Given the description of an element on the screen output the (x, y) to click on. 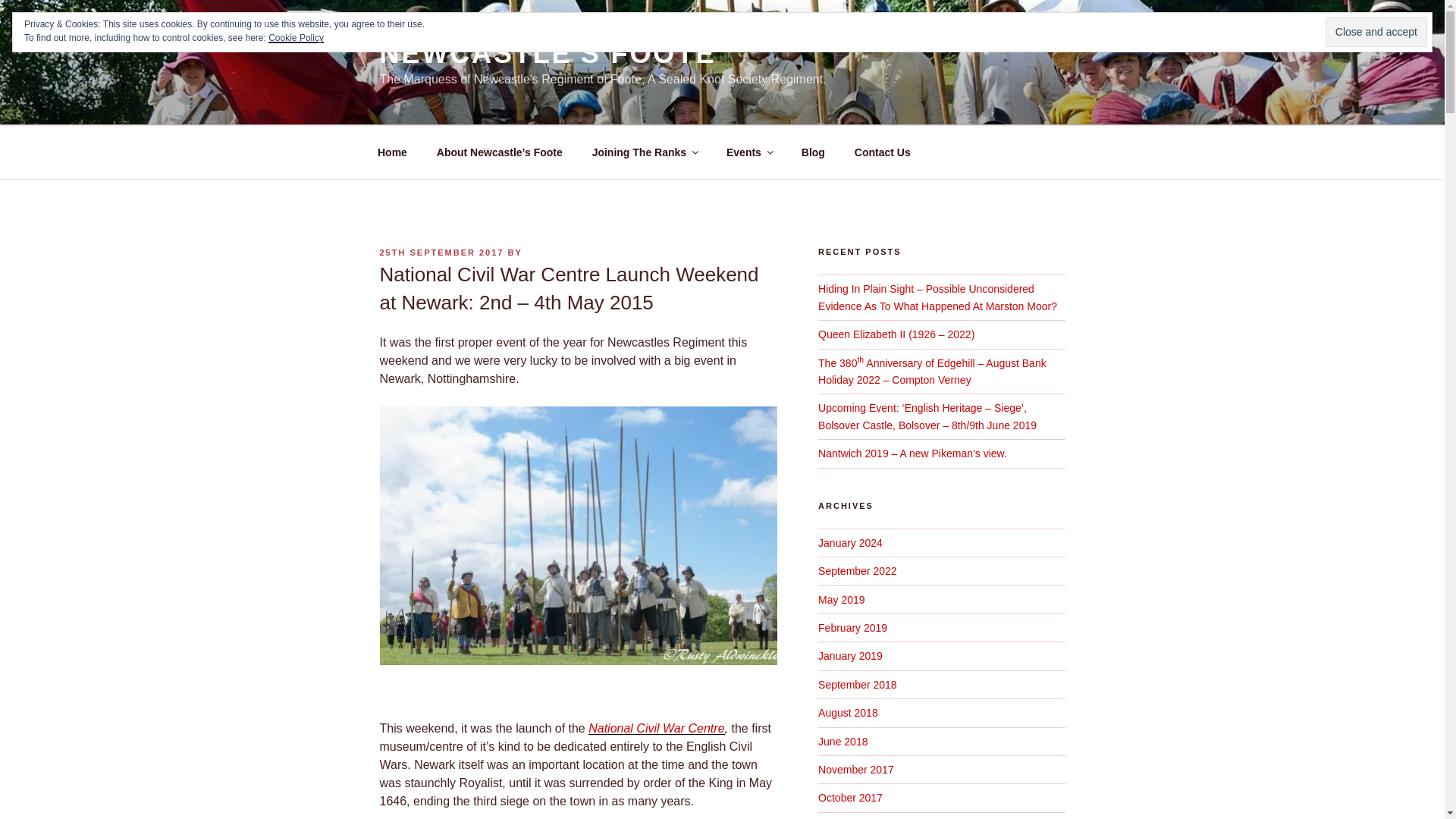
Close and accept (1375, 31)
Joining The Ranks (644, 151)
25TH SEPTEMBER 2017 (440, 252)
Blog (812, 151)
National Civil War Centre (655, 727)
Home (392, 151)
Events (748, 151)
Contact Us (882, 151)
NEWCASTLE'S FOOTE (547, 52)
